Given the description of an element on the screen output the (x, y) to click on. 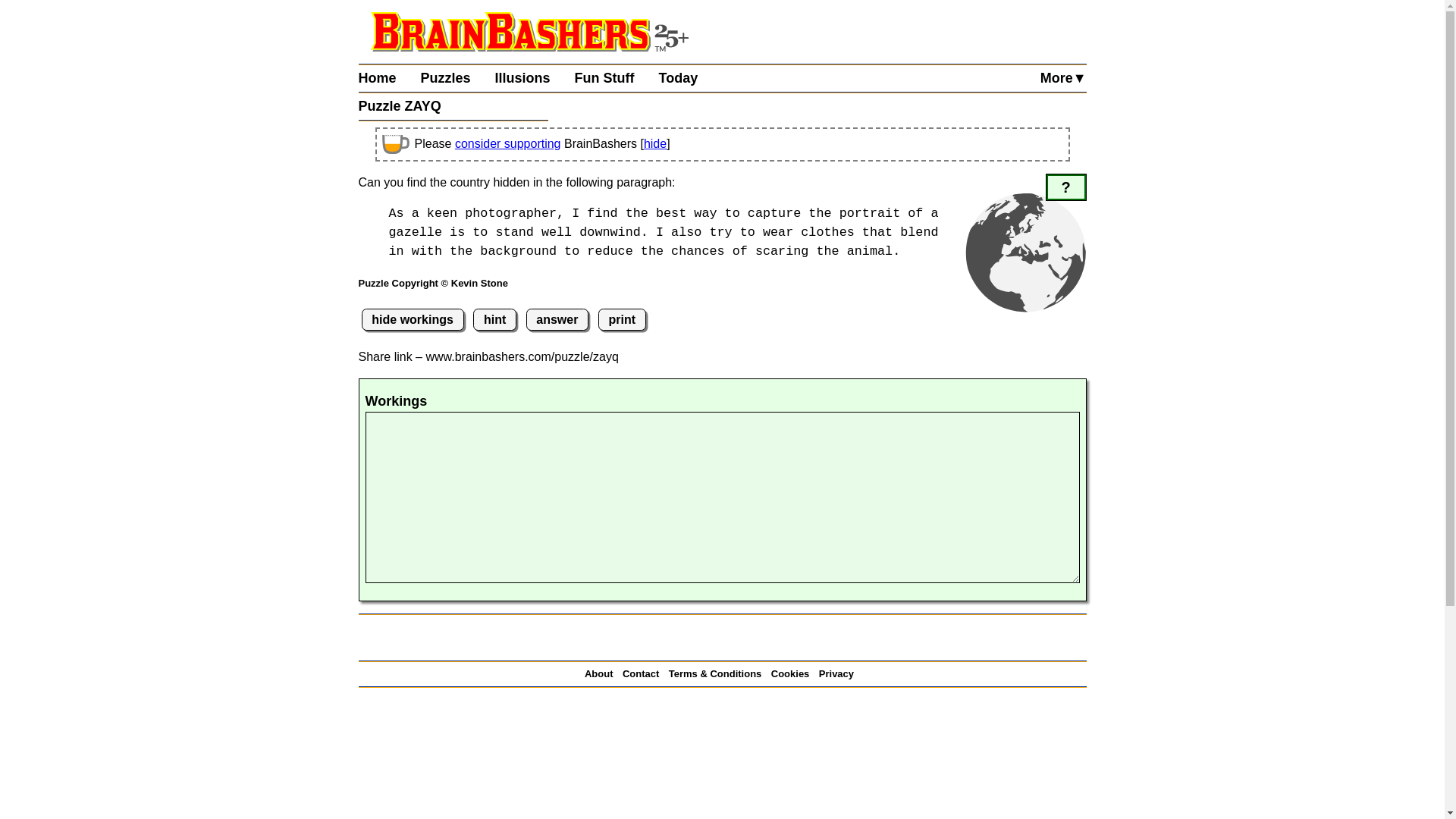
hint (494, 319)
Illusions (535, 78)
Privacy (839, 673)
print (622, 319)
Home (389, 78)
hide workings (412, 319)
answer (557, 319)
About (602, 673)
Cookies (793, 673)
Contact (644, 673)
Fun Stuff (617, 78)
Today (690, 78)
hide (654, 143)
Puzzles (457, 78)
consider supporting (507, 143)
